Given the description of an element on the screen output the (x, y) to click on. 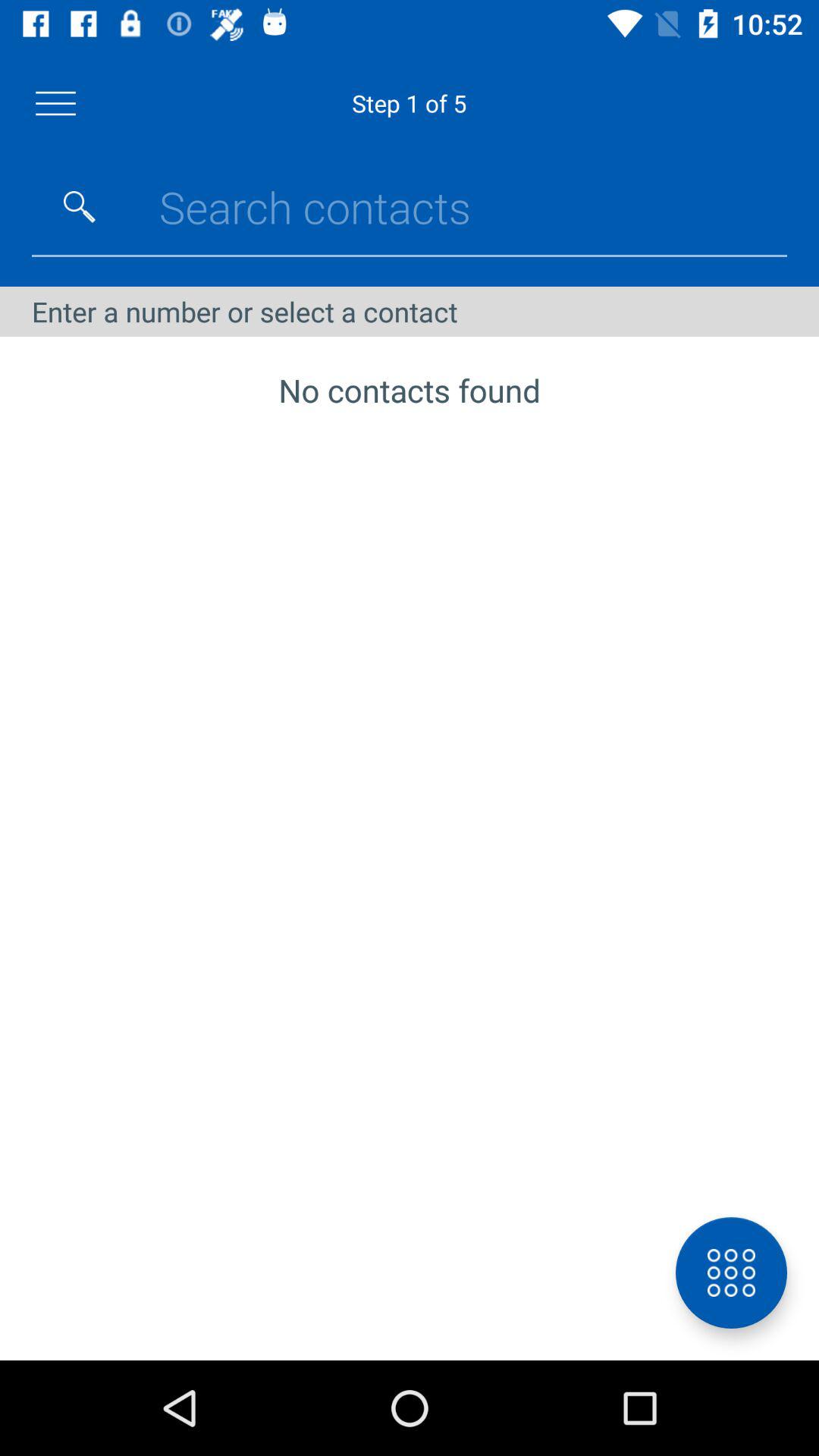
search button (79, 206)
